Given the description of an element on the screen output the (x, y) to click on. 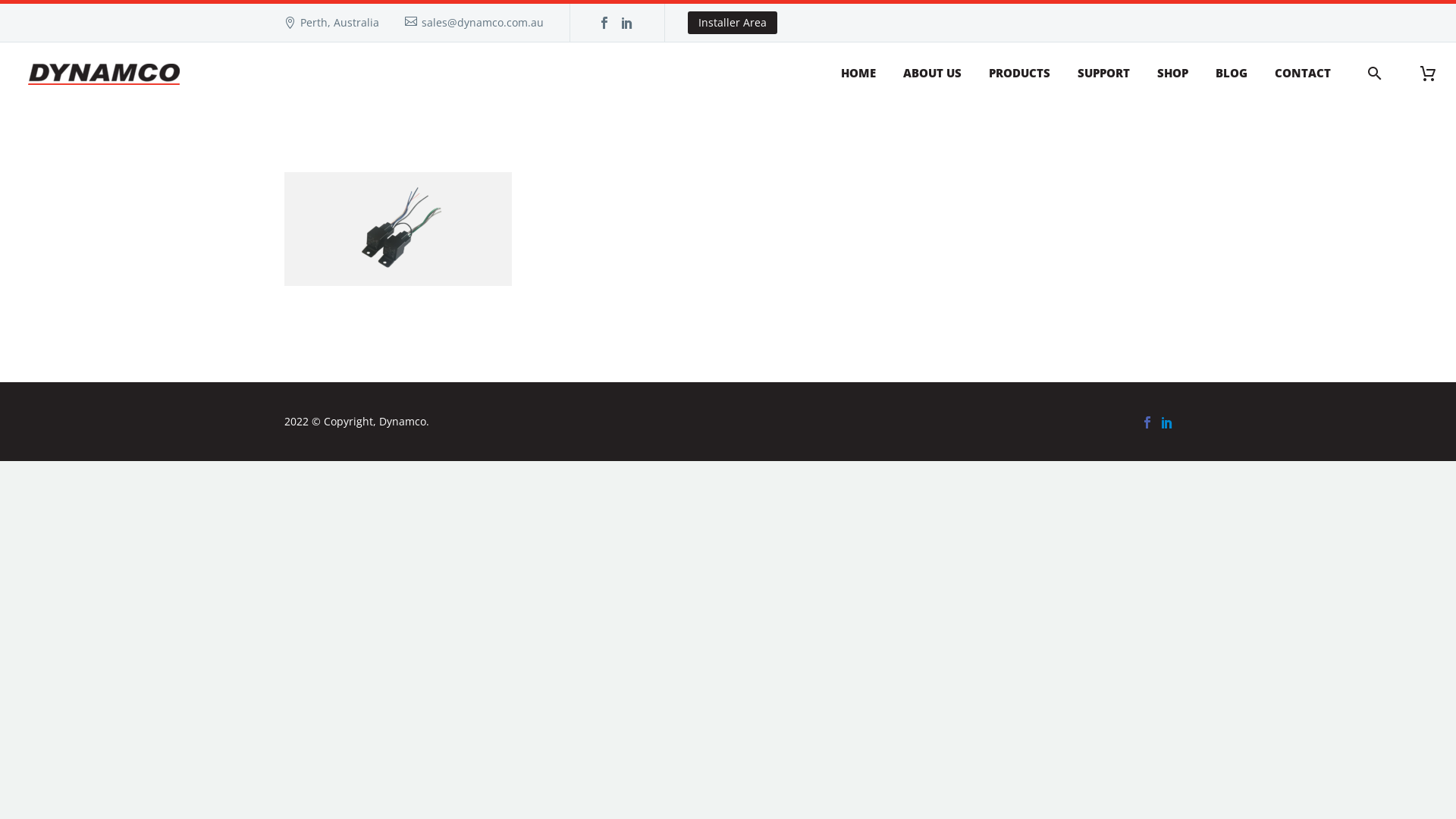
SUPPORT Element type: text (1103, 73)
HOME Element type: text (857, 73)
sales@dynamco.com.au Element type: text (482, 22)
ABOUT US Element type: text (932, 73)
Facebook Element type: hover (1147, 422)
CONTACT Element type: text (1302, 73)
Facebook Element type: hover (604, 22)
LinkedIn Element type: hover (1167, 422)
Installer Area Element type: text (732, 22)
PRODUCTS Element type: text (1019, 73)
LinkedIn Element type: hover (626, 22)
SHOP Element type: text (1172, 73)
BLOG Element type: text (1231, 73)
